Given the description of an element on the screen output the (x, y) to click on. 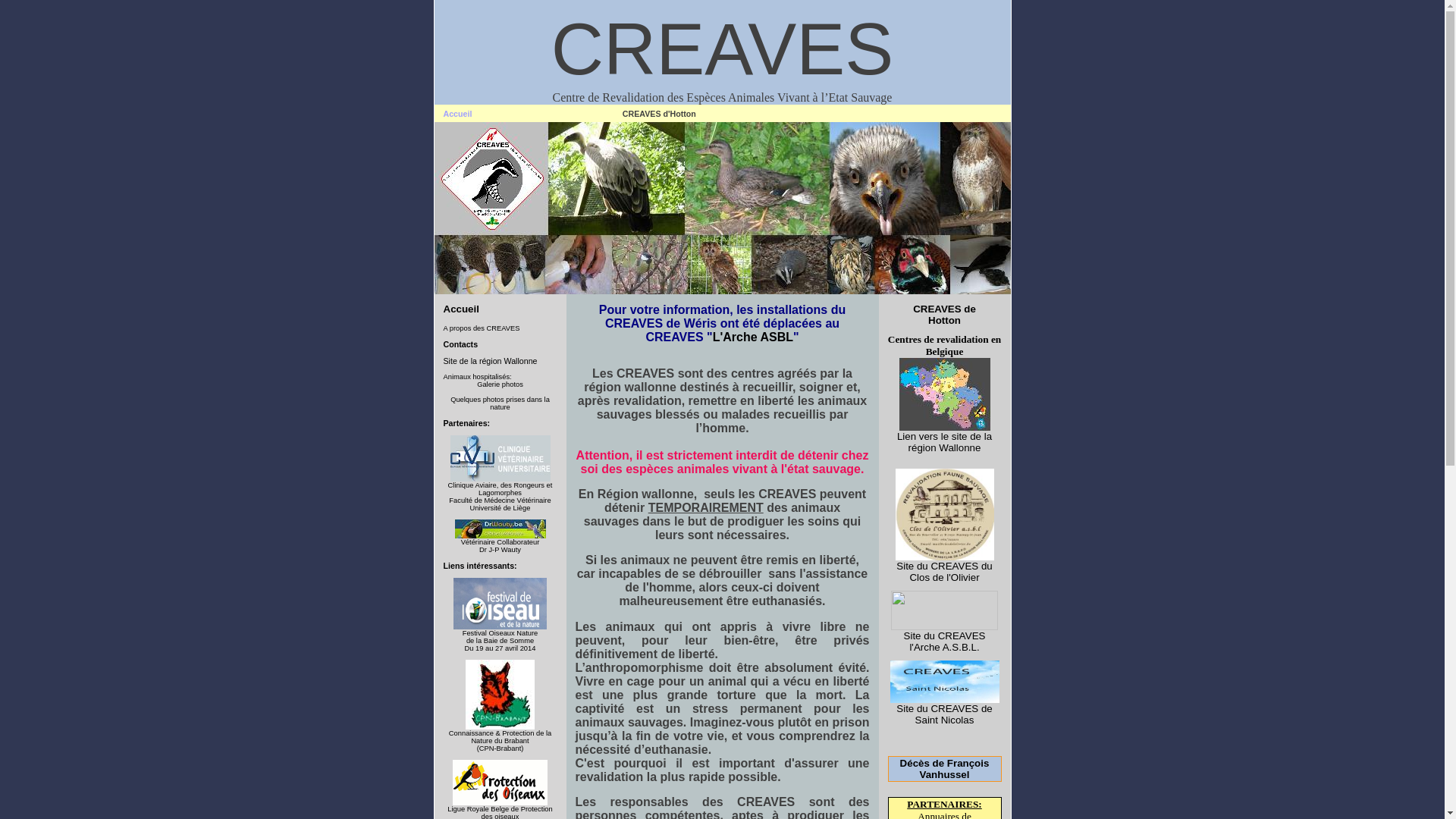
A propos des CREAVES Element type: text (480, 328)
Clos de l'Olivier Element type: text (944, 577)
de la Baie de Somme Element type: text (499, 640)
(CPN-Brabant) Element type: text (500, 748)
L'Arche ASBL Element type: text (752, 336)
Dr J-P Wauty Element type: text (499, 549)
Galerie photos Element type: text (499, 384)
CREAVES de Element type: text (944, 308)
Contacts Element type: text (459, 343)
Clinique Aviaire, des Rongeurs et Lagomorphes Element type: text (500, 488)
PARTENAIRES: Element type: text (944, 803)
Quelques photos prises dans la nature Element type: text (499, 403)
Site du CREAVES Element type: text (944, 635)
Connaissance & Protection de la Nature du Brabant Element type: text (499, 736)
Site du CREAVES de Saint Nicolas Element type: text (943, 713)
Site du CREAVES du Element type: text (943, 565)
Du 19 au 27 avril 2014 Element type: text (500, 648)
Hotton Element type: text (944, 320)
Festival Oiseaux Nature Element type: text (500, 633)
l'Arche A.S.B.L. Element type: text (944, 646)
